Given the description of an element on the screen output the (x, y) to click on. 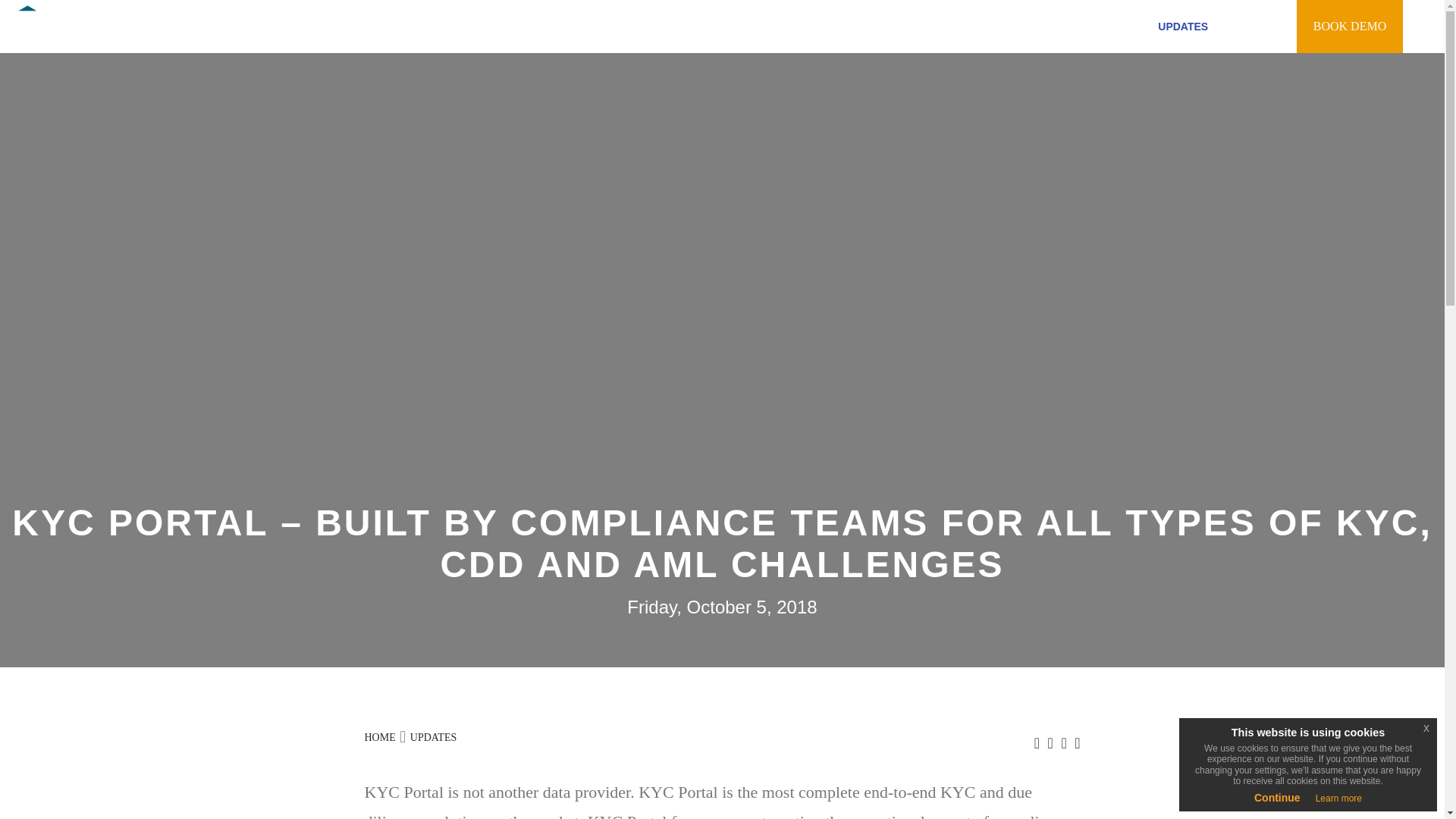
FEATURES (836, 26)
INTRODUCING KYC PORTAL (708, 26)
PARTNERS (1047, 26)
KNOWLEDGE BASE (941, 26)
CONTACT (1260, 26)
BOOK DEMO (1350, 26)
